Given the description of an element on the screen output the (x, y) to click on. 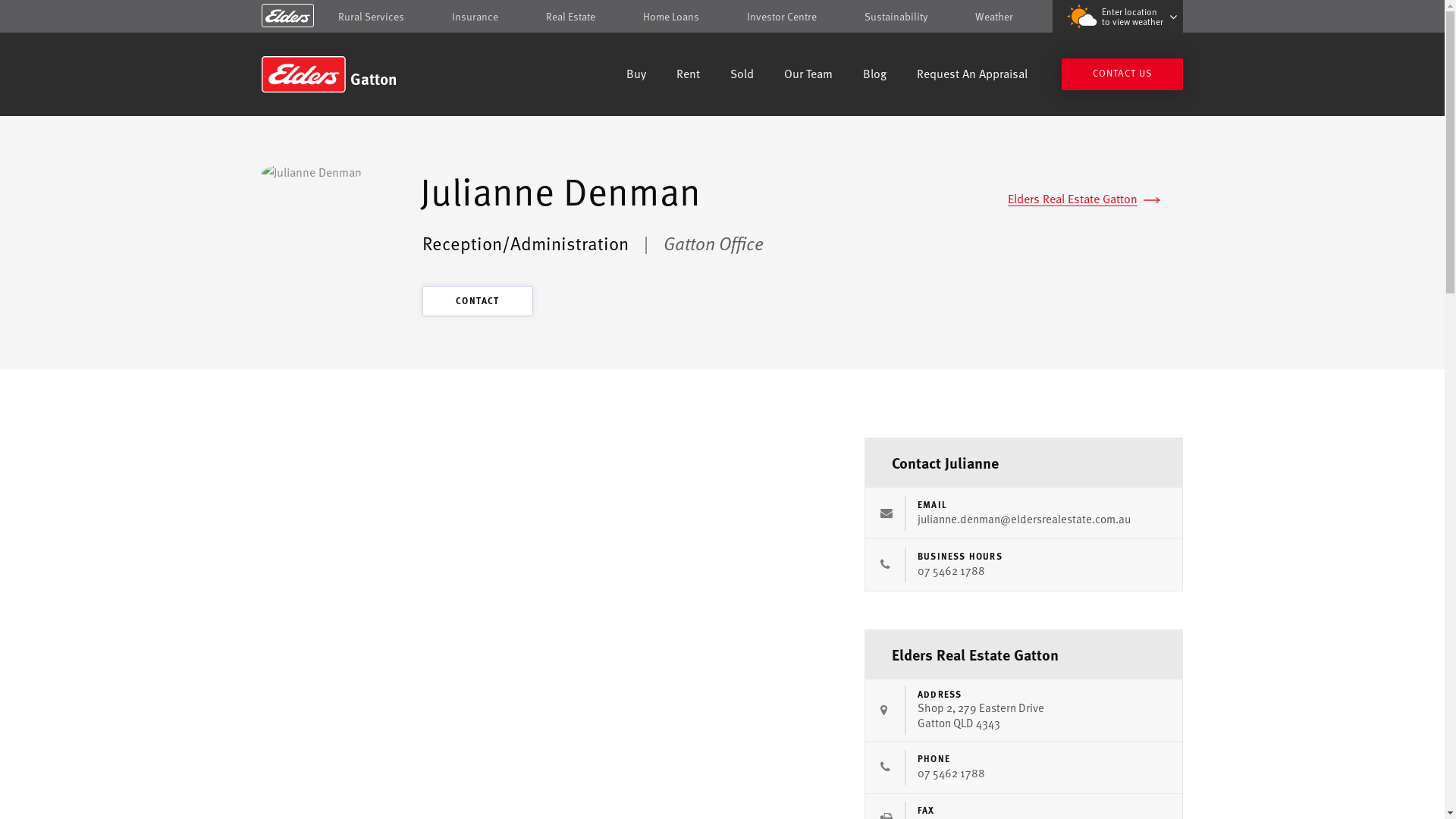
Home Loans Element type: text (671, 16)
Insurance Element type: text (474, 16)
Enter location to view weather Element type: text (1117, 16)
Gatton Element type: text (369, 74)
Gatton Office Element type: text (713, 242)
Weather Element type: text (994, 16)
Skip to content Element type: text (722, 17)
Our Team Element type: text (808, 75)
Sold Element type: text (741, 75)
Investor Centre Element type: text (781, 16)
CONTACT US Element type: text (1122, 74)
CONTACT Element type: text (477, 300)
Real Estate Element type: text (570, 16)
Rent Element type: text (687, 75)
Elders Real Estate Gatton Element type: text (1083, 198)
Buy Element type: text (636, 75)
Blog Element type: text (874, 75)
Sustainability Element type: text (895, 16)
Request An Appraisal Element type: text (971, 75)
Rural Services Element type: text (371, 16)
